Given the description of an element on the screen output the (x, y) to click on. 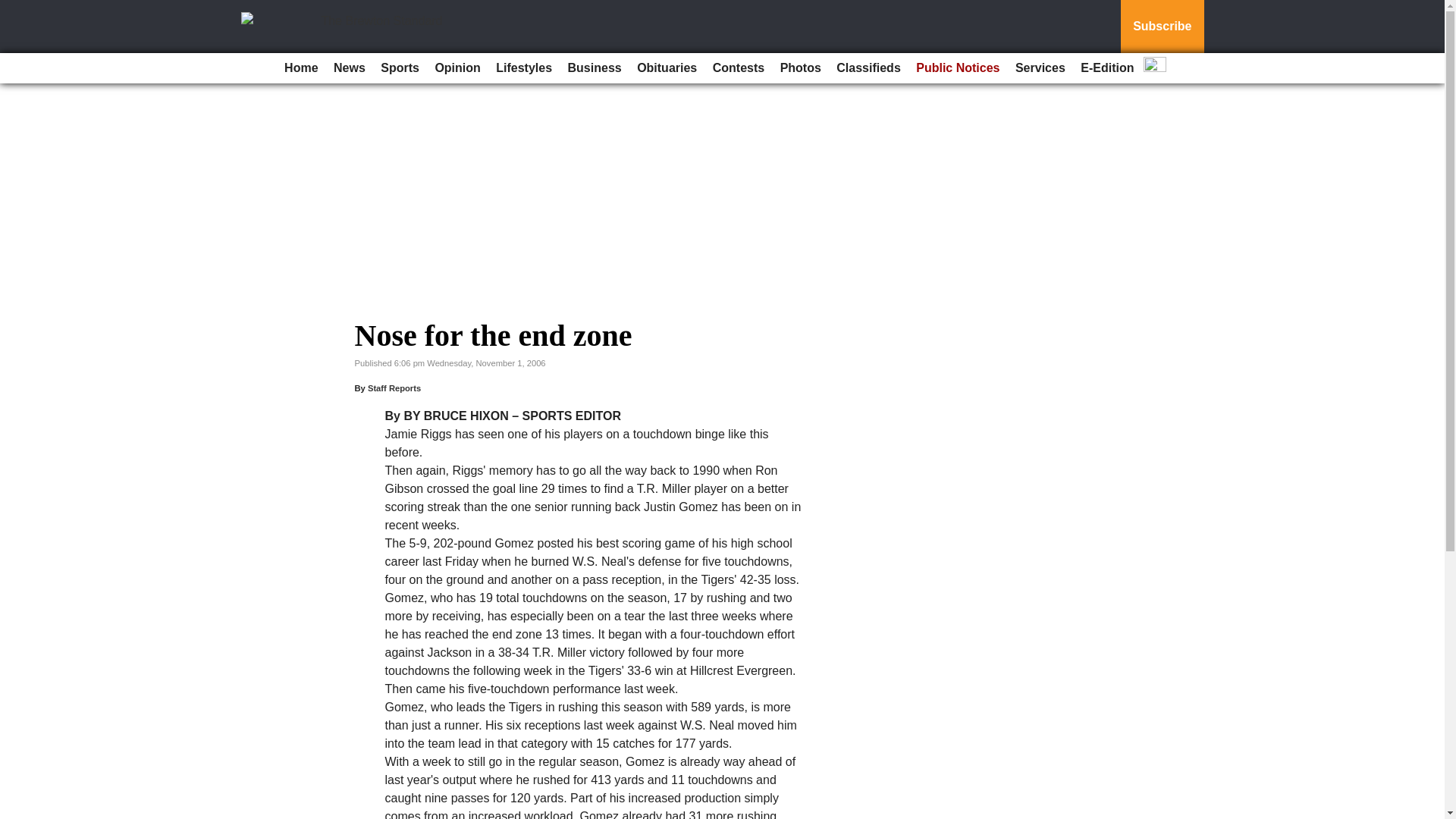
Lifestyles (523, 68)
Obituaries (666, 68)
Public Notices (958, 68)
Contests (738, 68)
Sports (399, 68)
Subscribe (1162, 26)
Classifieds (867, 68)
Home (300, 68)
Opinion (457, 68)
News (349, 68)
